Given the description of an element on the screen output the (x, y) to click on. 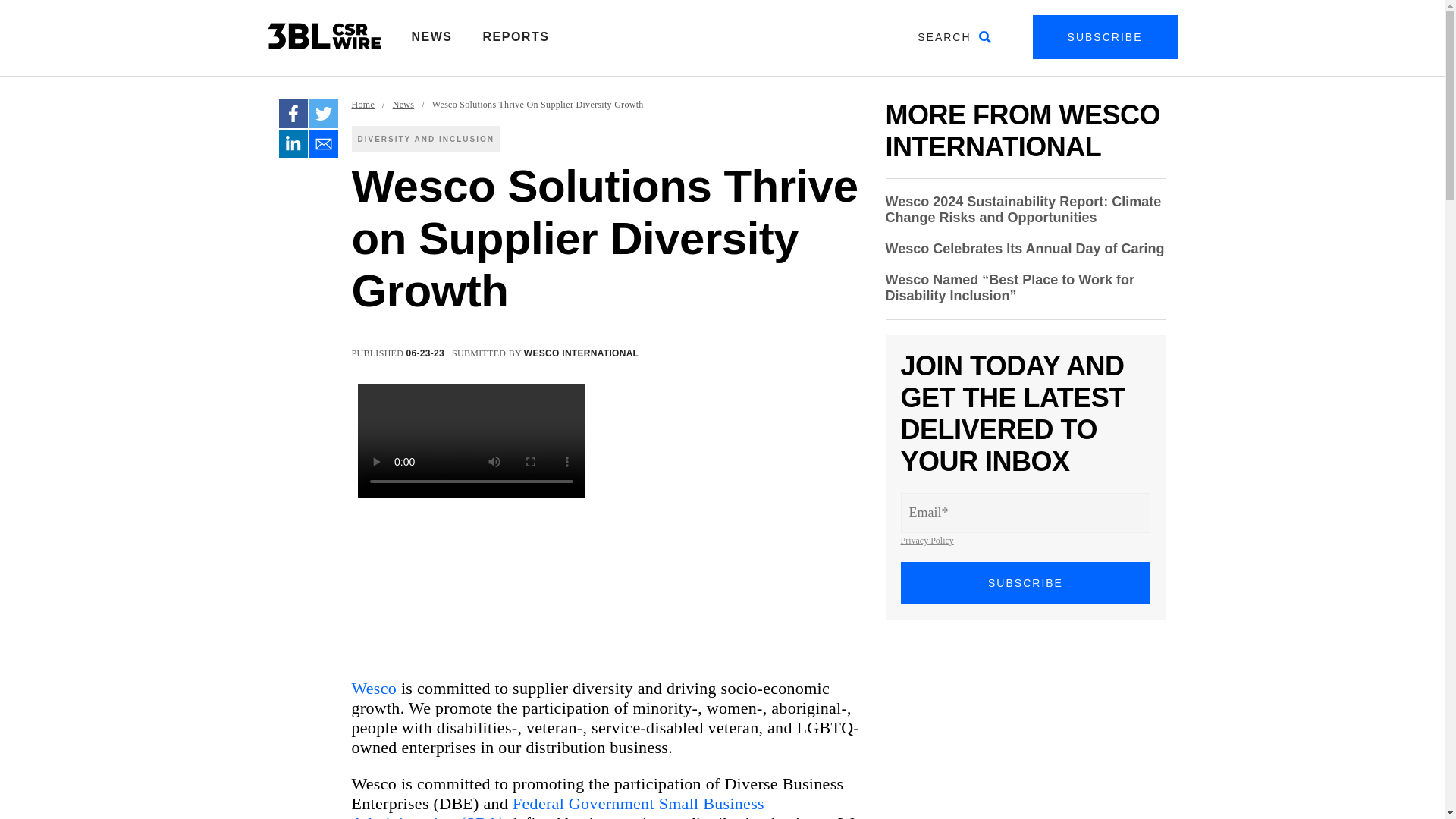
Wesco Celebrates Its Annual Day of Caring (1024, 248)
SEARCH (953, 36)
Linkedin (293, 143)
Home (363, 104)
SUBSCRIBE (1026, 582)
DIVERSITY AND INCLUSION (426, 139)
Twitter (322, 113)
Privacy Policy (927, 540)
Facebook (293, 113)
